Given the description of an element on the screen output the (x, y) to click on. 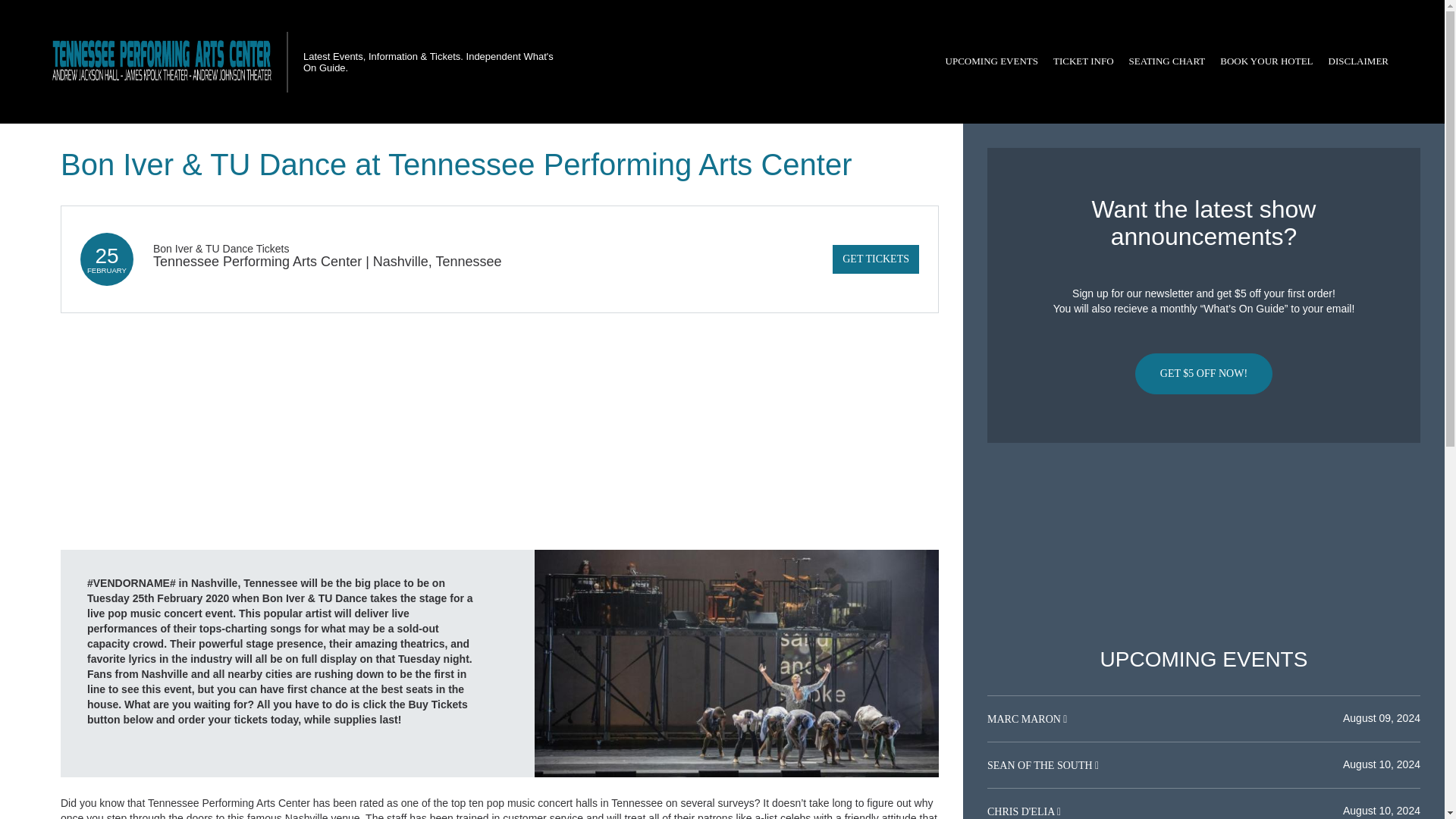
BOOK YOUR HOTEL (1266, 61)
GET TICKETS (875, 258)
SEAN OF THE SOUTH (1040, 765)
DISCLAIMER (1358, 61)
SEATING CHART (1166, 61)
TICKET INFO (1083, 61)
UPCOMING EVENTS (991, 61)
